Given the description of an element on the screen output the (x, y) to click on. 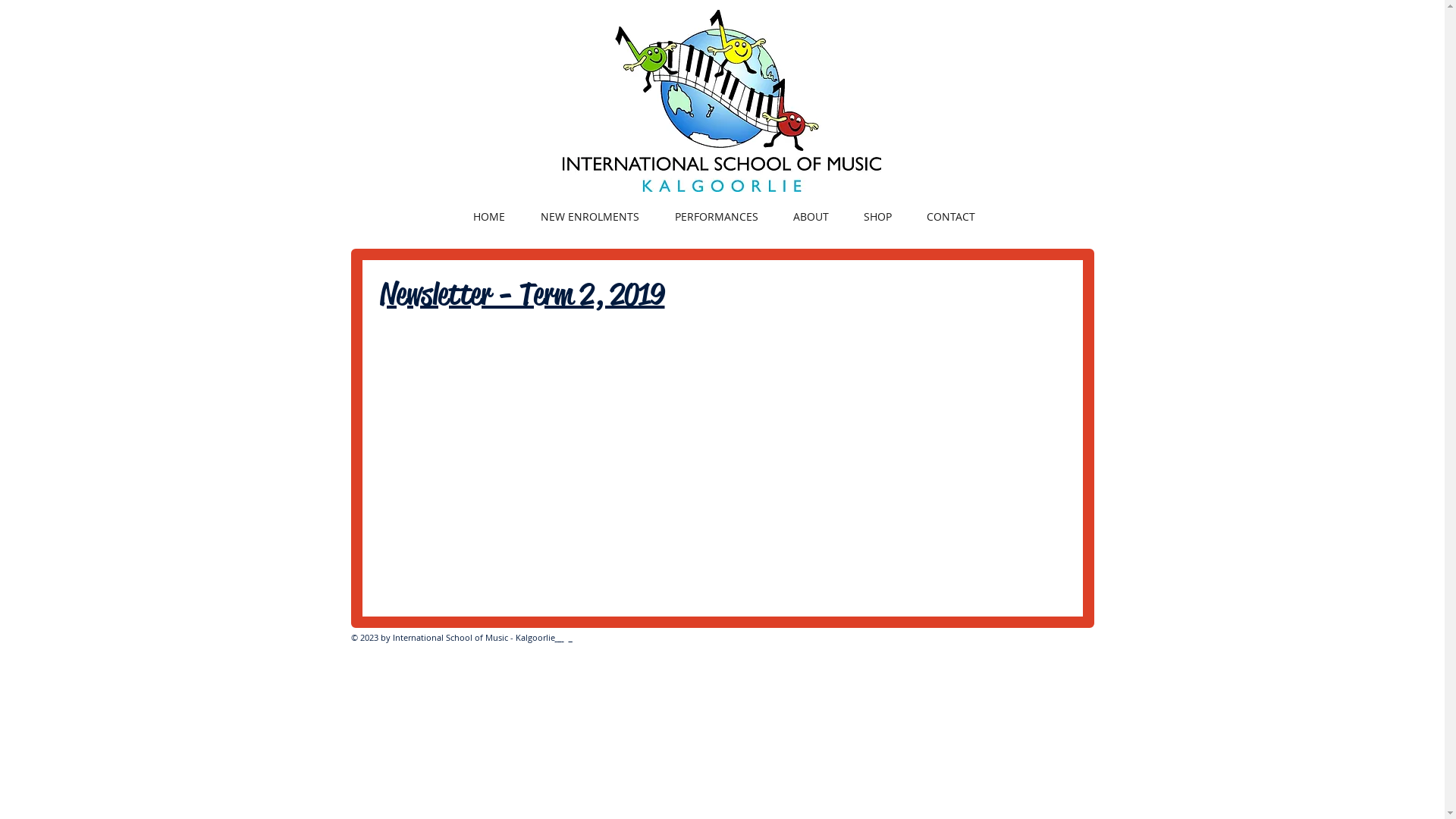
SHOP Element type: text (877, 216)
CONTACT Element type: text (949, 216)
  Element type: text (558, 637)
_ Element type: text (570, 637)
PERFORMANCES Element type: text (715, 216)
ABOUT Element type: text (810, 216)
Newsletter - Term 2,    2019 Element type: text (521, 292)
NEW ENROLMENTS Element type: text (590, 216)
HOME Element type: text (488, 216)
